Given the description of an element on the screen output the (x, y) to click on. 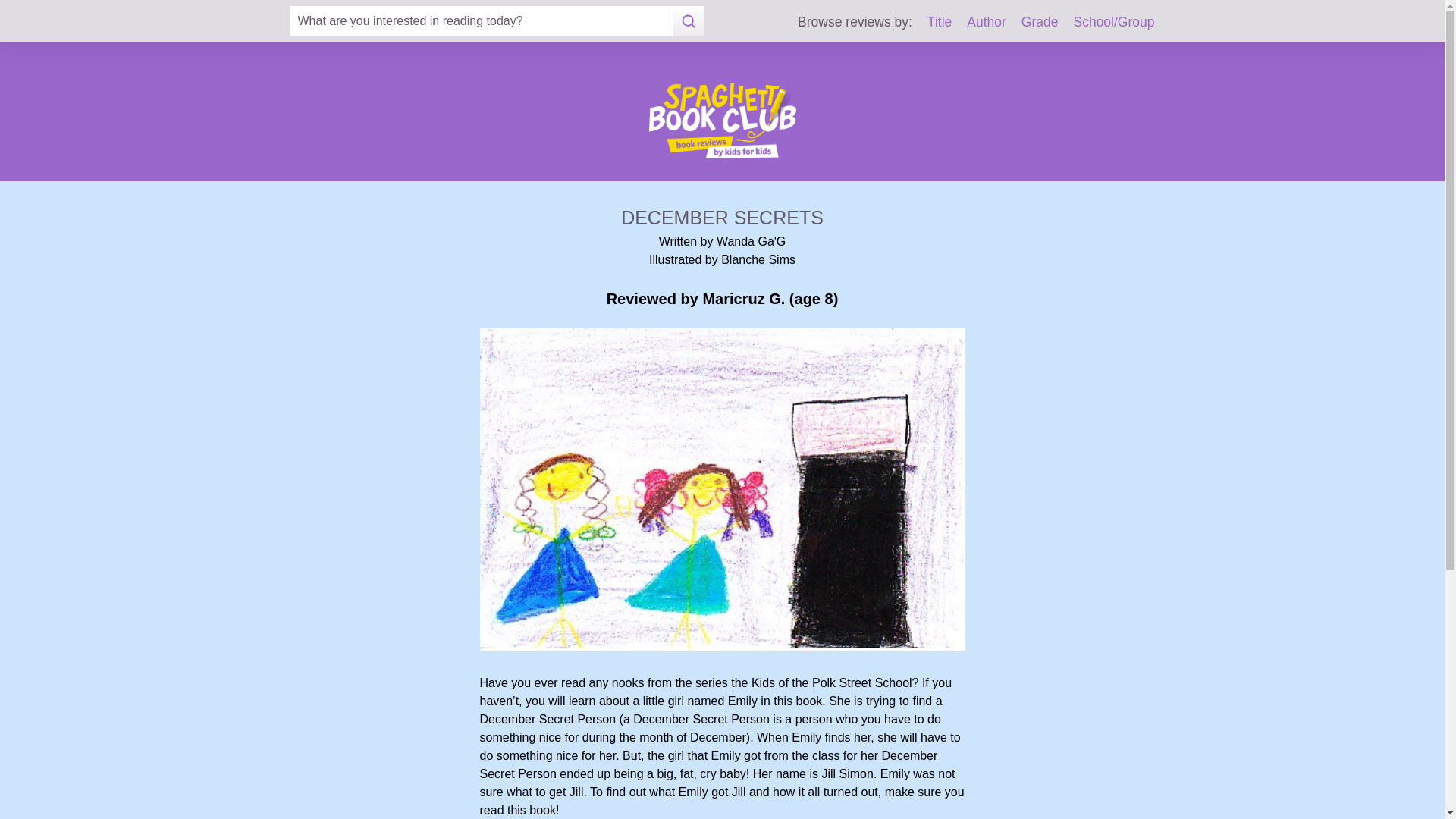
Title (939, 21)
Grade (1040, 21)
Author (986, 21)
